Given the description of an element on the screen output the (x, y) to click on. 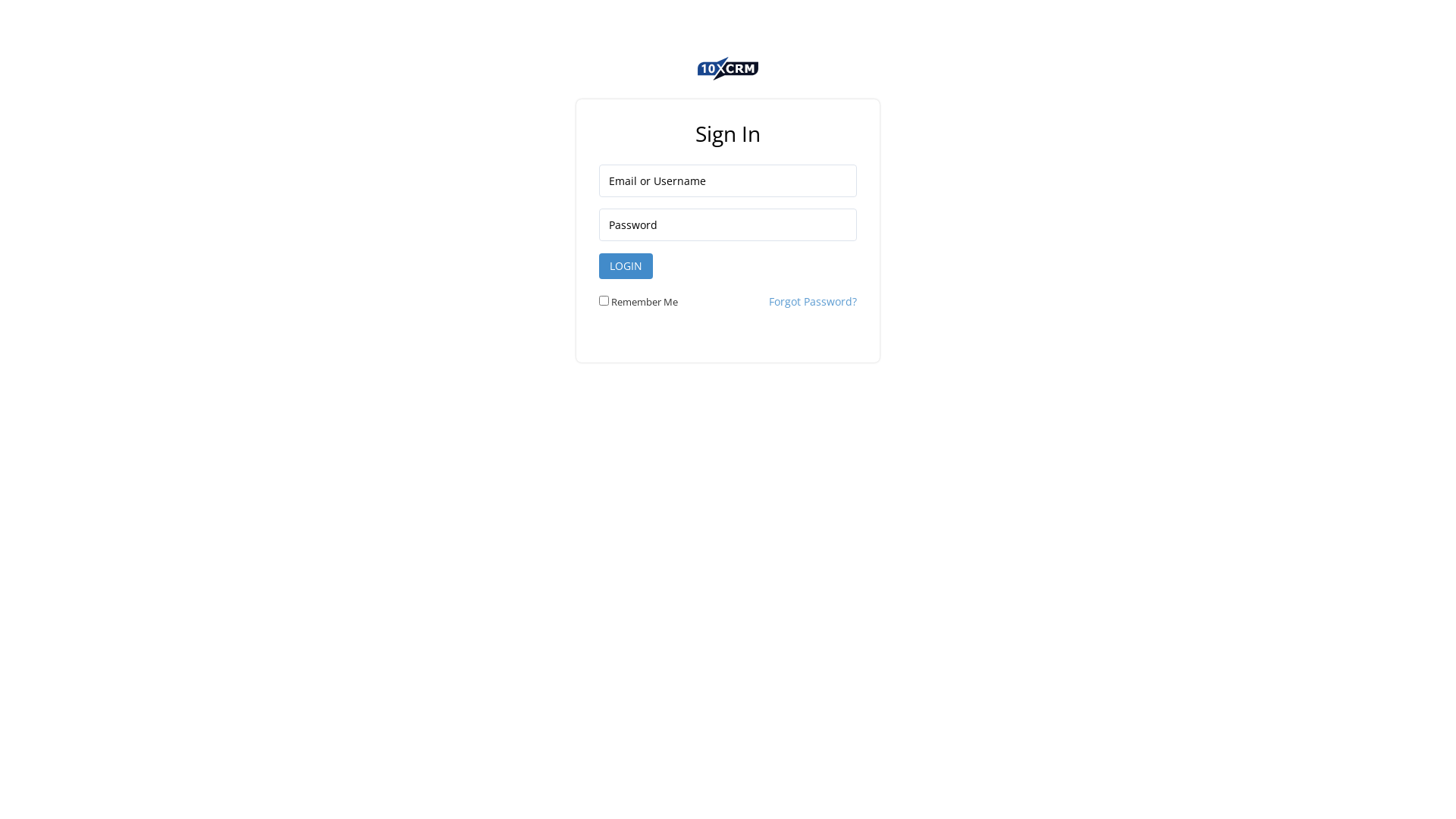
Forgot Password? Element type: text (812, 301)
LOGIN Element type: text (625, 266)
